Given the description of an element on the screen output the (x, y) to click on. 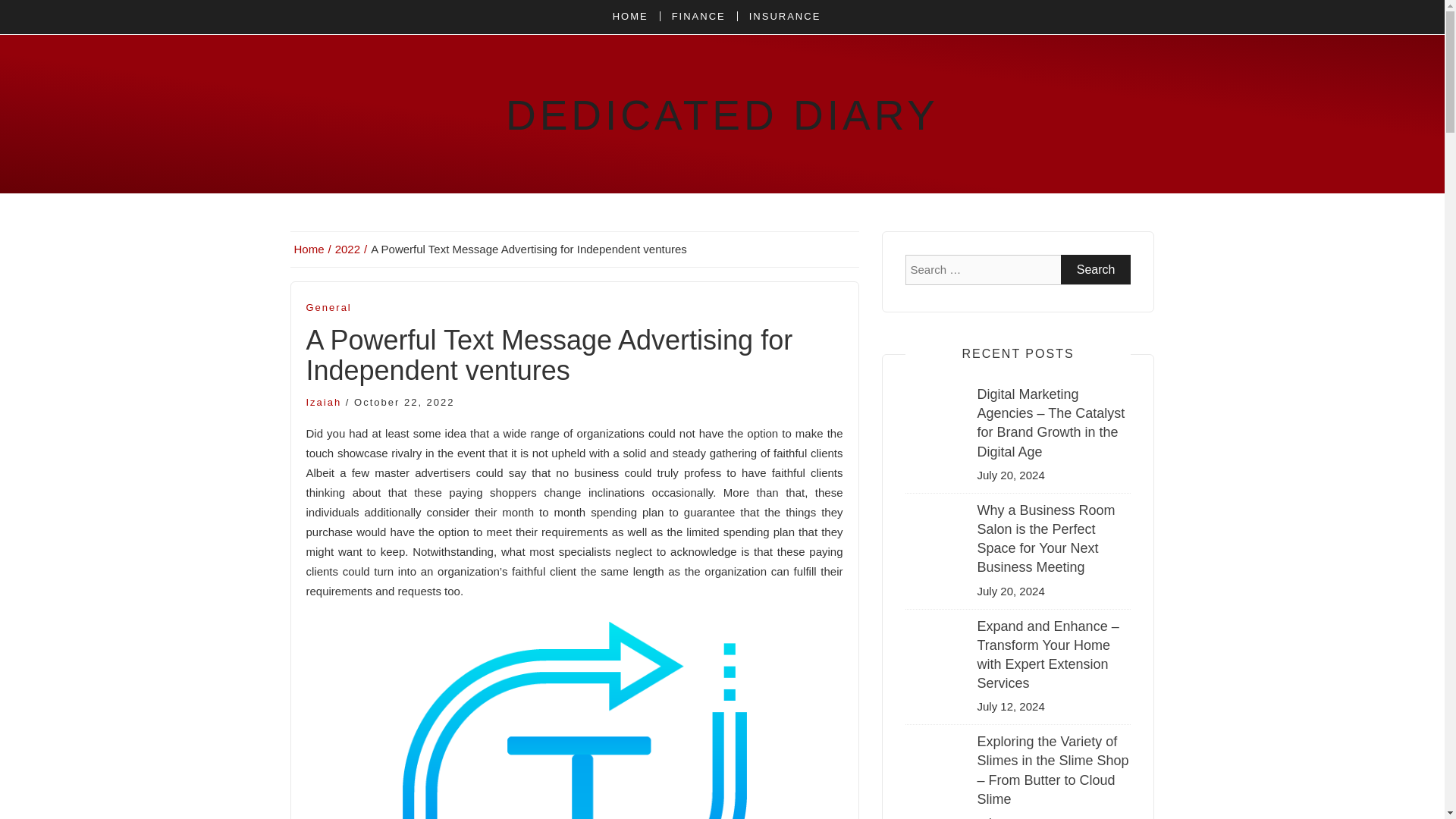
DEDICATED DIARY (722, 114)
2022 (351, 249)
FINANCE (697, 16)
Izaiah (323, 401)
Search (1096, 269)
Search (1096, 269)
General (328, 307)
INSURANCE (784, 16)
Search (1096, 269)
